Given the description of an element on the screen output the (x, y) to click on. 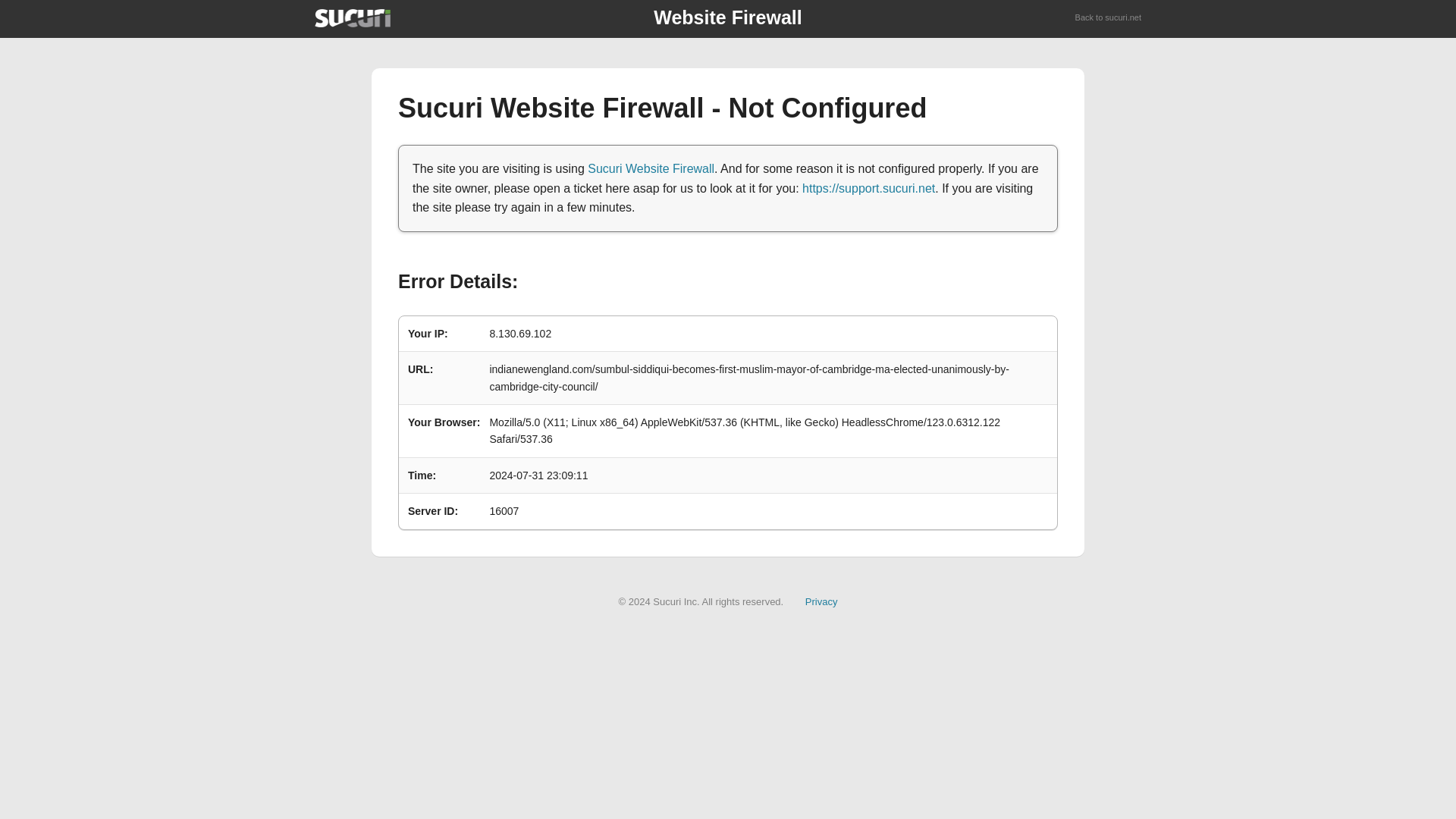
Sucuri Website Firewall (651, 168)
Back to sucuri.net (1108, 18)
Privacy (821, 601)
